Given the description of an element on the screen output the (x, y) to click on. 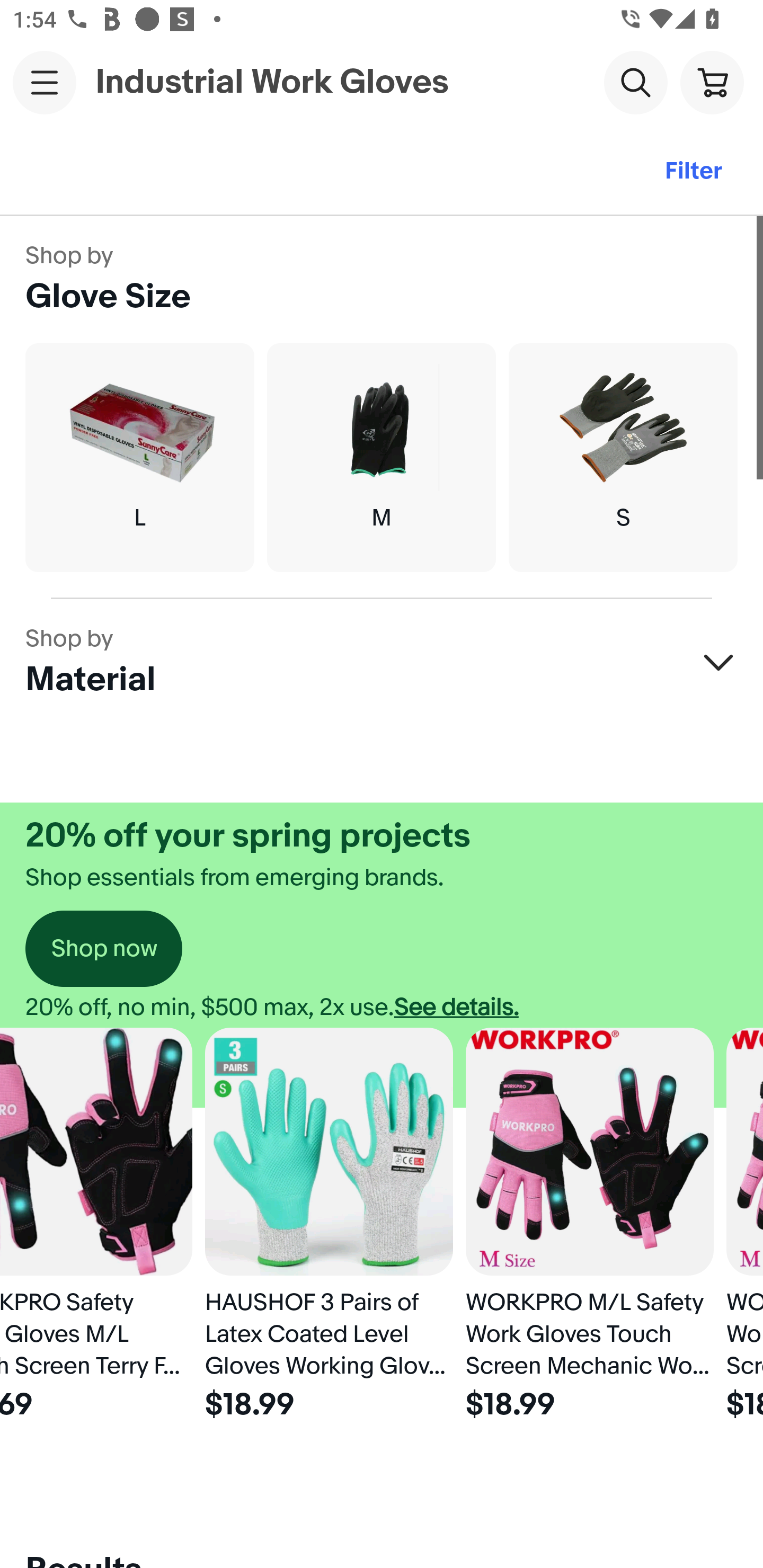
Main navigation, open (44, 82)
Search (635, 81)
Cart button shopping cart (711, 81)
Filter (693, 171)
L (139, 457)
M (381, 457)
S (622, 457)
Shop by Material (381, 661)
